Given the description of an element on the screen output the (x, y) to click on. 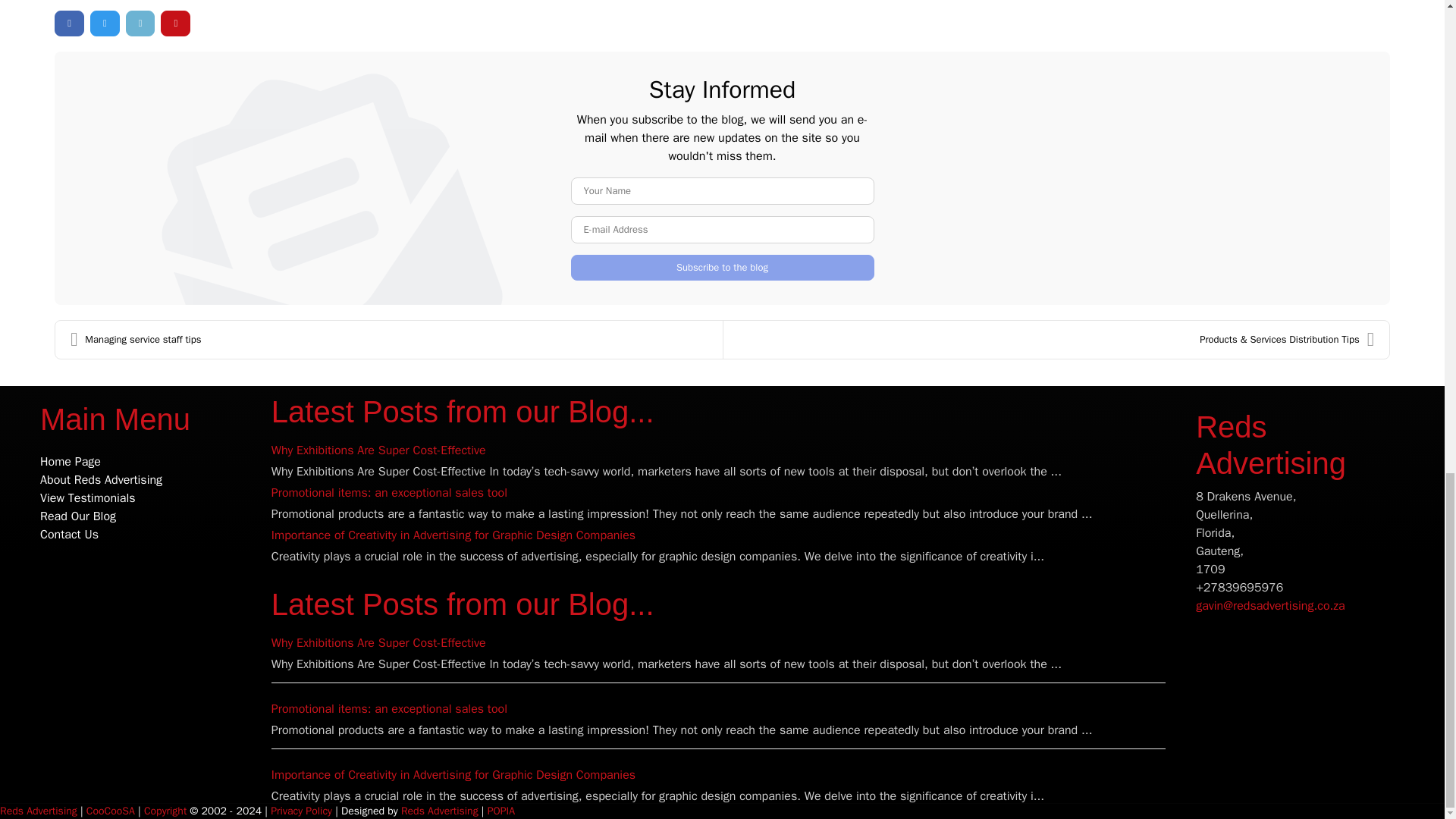
Why Exhibitions Are Super Cost-Effective (378, 450)
Promotional items: an exceptional sales tool (388, 492)
